Given the description of an element on the screen output the (x, y) to click on. 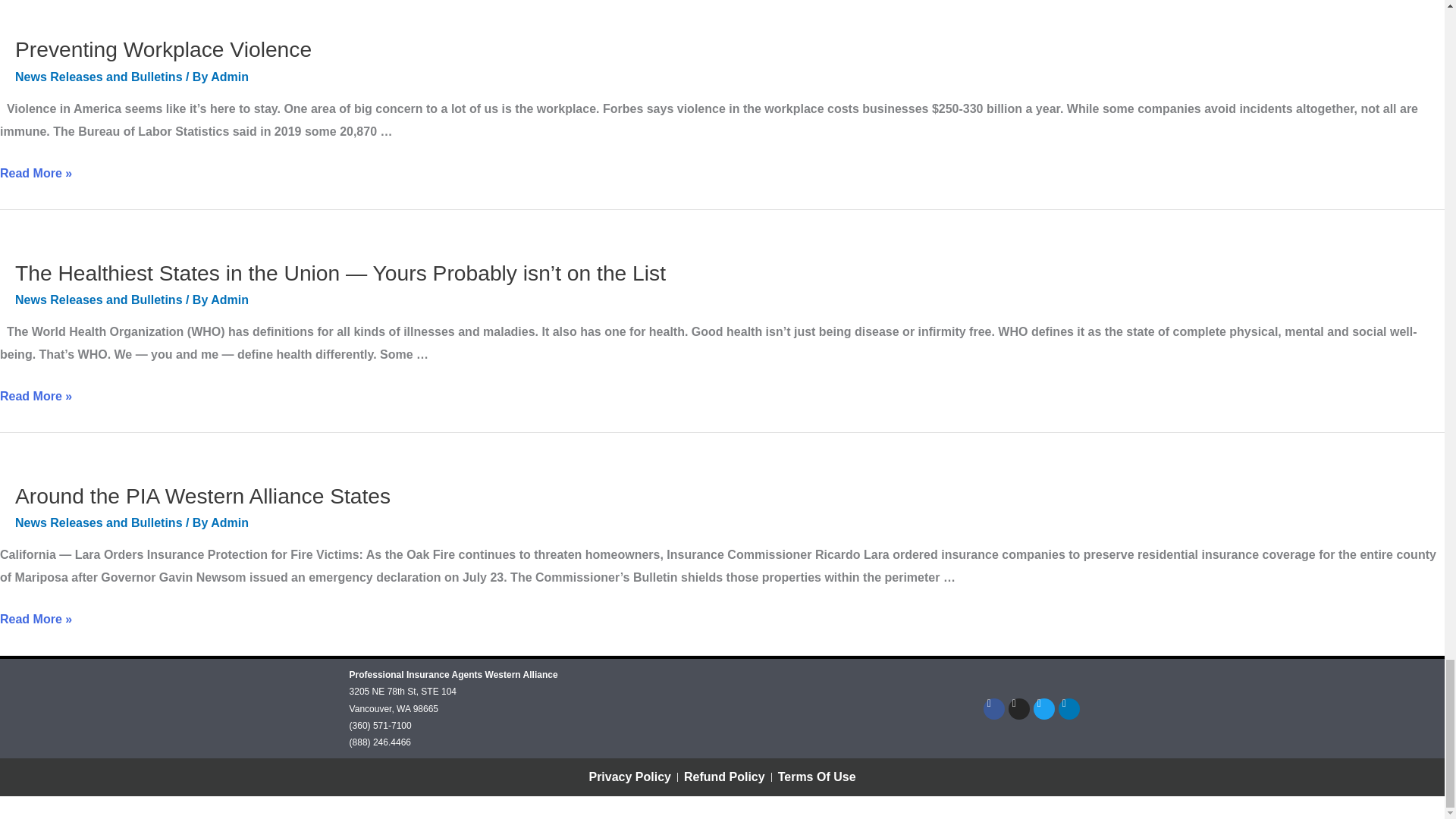
View all posts by Admin (229, 76)
View all posts by Admin (229, 522)
View all posts by Admin (229, 299)
